Given the description of an element on the screen output the (x, y) to click on. 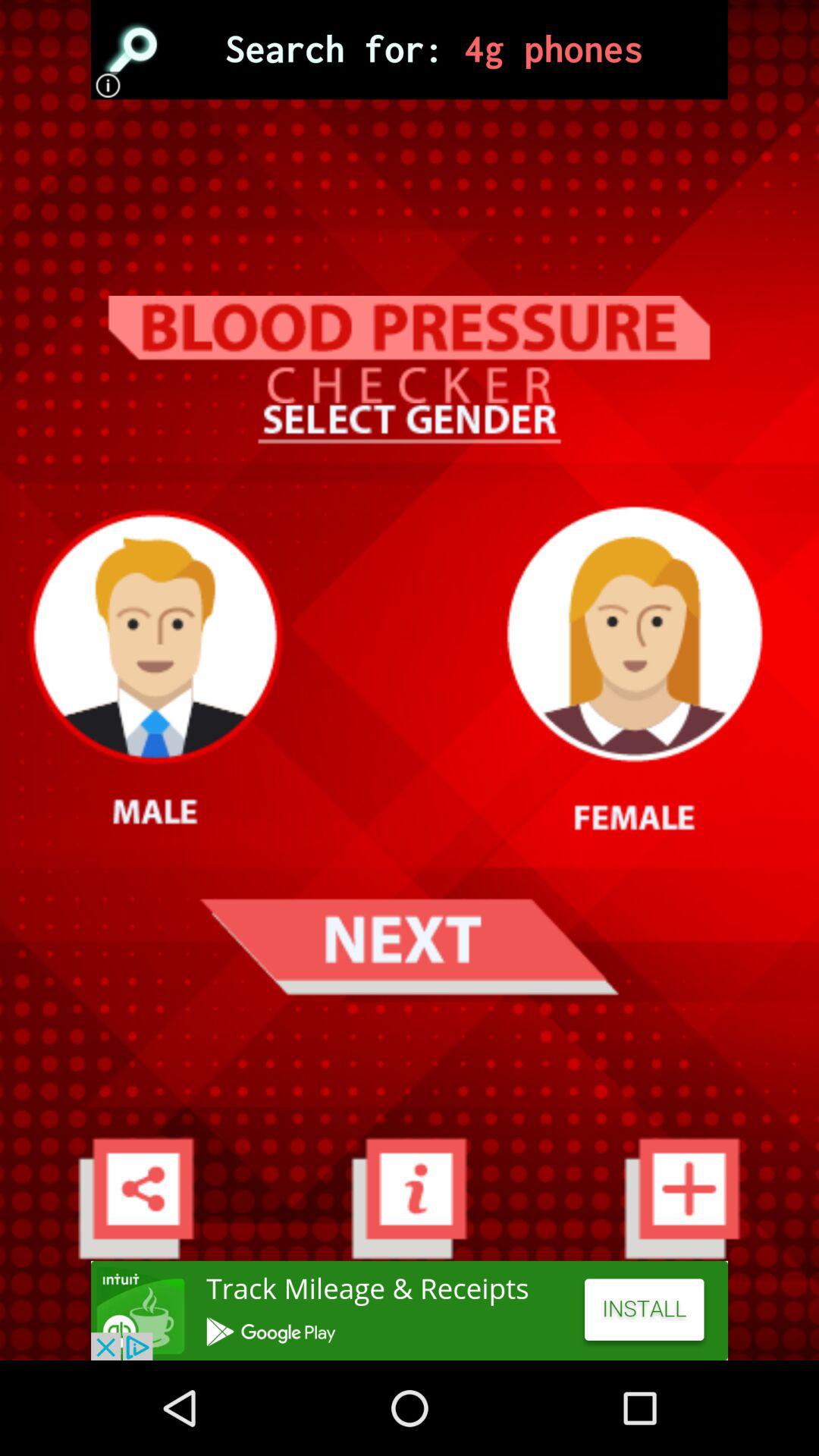
share the article (409, 1310)
